Given the description of an element on the screen output the (x, y) to click on. 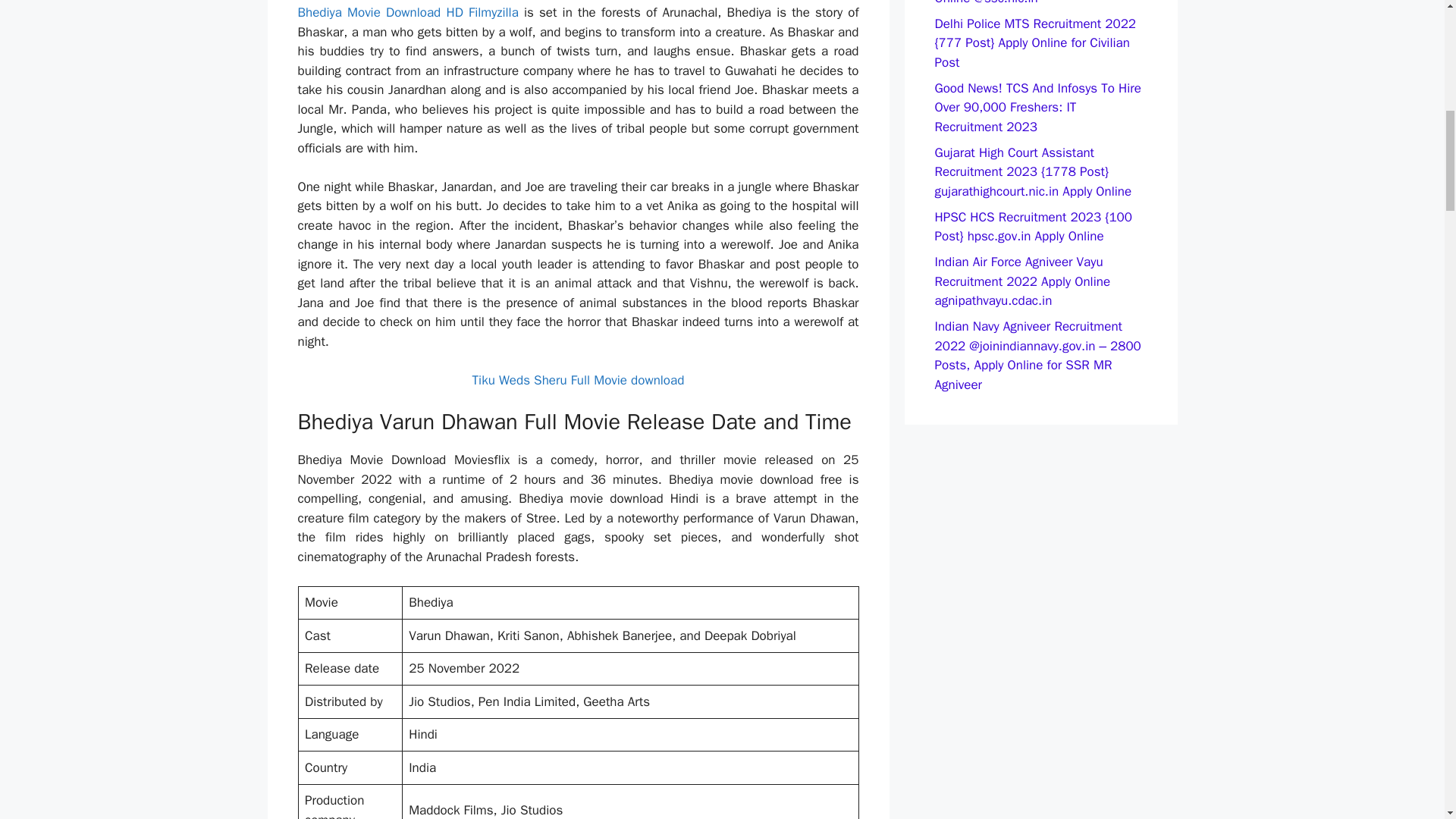
Bhediya Movie Download HD Filmyzilla (407, 12)
Tiku Weds Sheru Full Movie download (577, 380)
Scroll back to top (1406, 720)
